Given the description of an element on the screen output the (x, y) to click on. 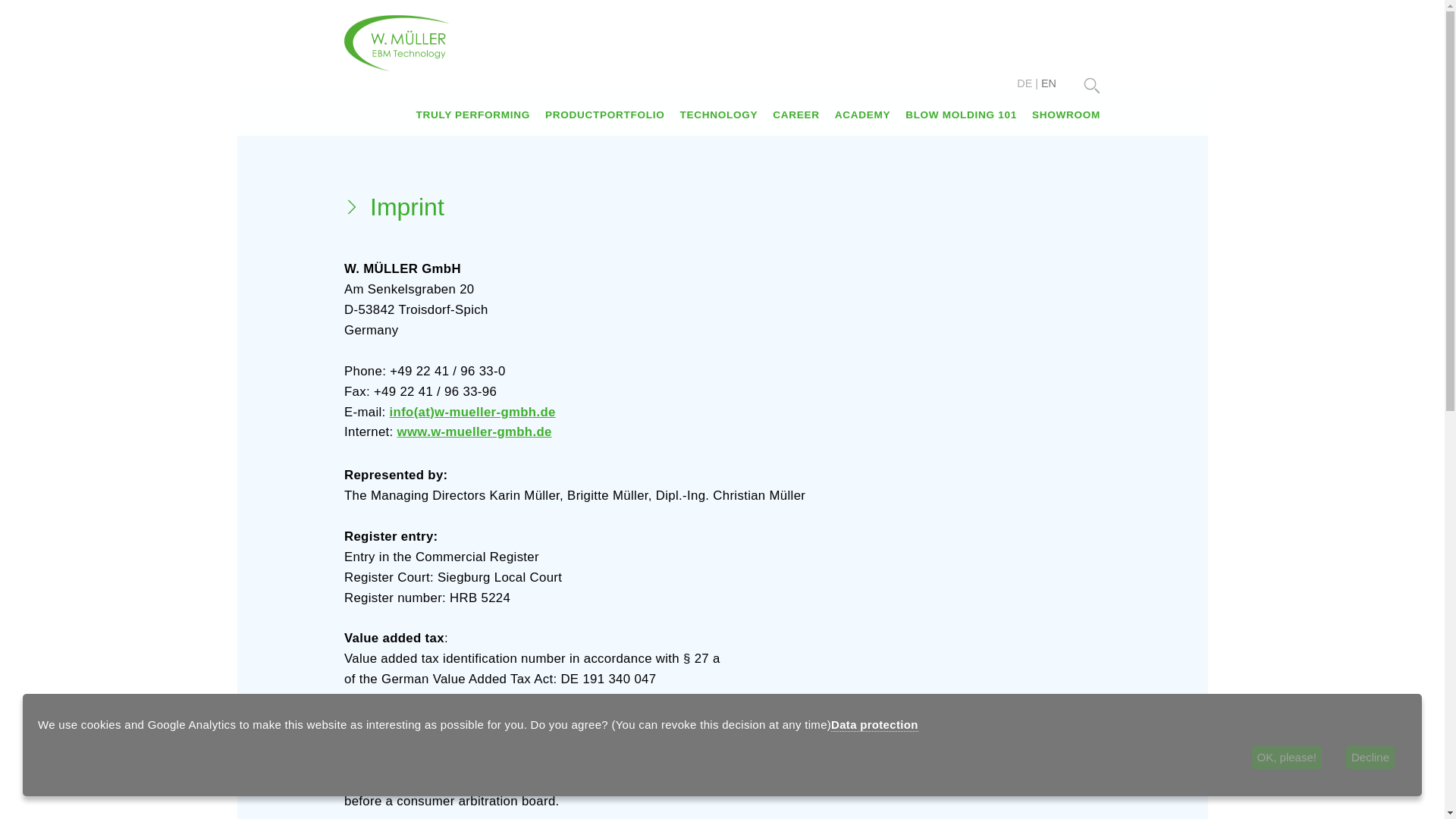
German (1024, 82)
TECHNOLOGY (718, 114)
Suche (1091, 85)
PRODUCTPORTFOLIO (603, 114)
English (1049, 82)
DE (1024, 82)
EN (1049, 82)
CAREER (795, 114)
Home (397, 43)
TRULY PERFORMING (471, 114)
